Given the description of an element on the screen output the (x, y) to click on. 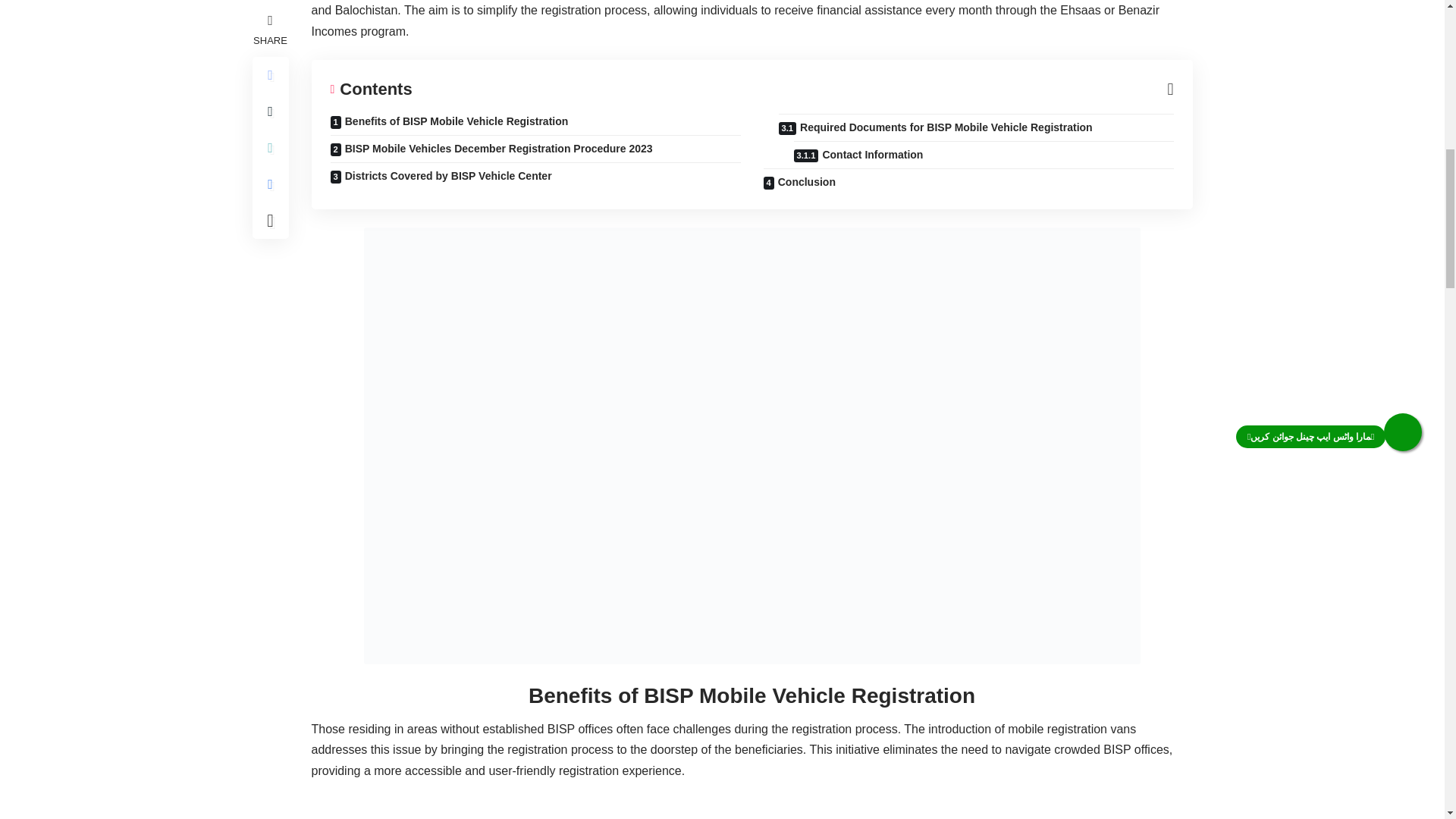
Benefits of BISP Mobile Vehicle Registration (535, 124)
Districts Covered by BISP Vehicle Center (535, 175)
BISP Mobile Vehicles December Registration Procedure 2023 (535, 148)
